Given the description of an element on the screen output the (x, y) to click on. 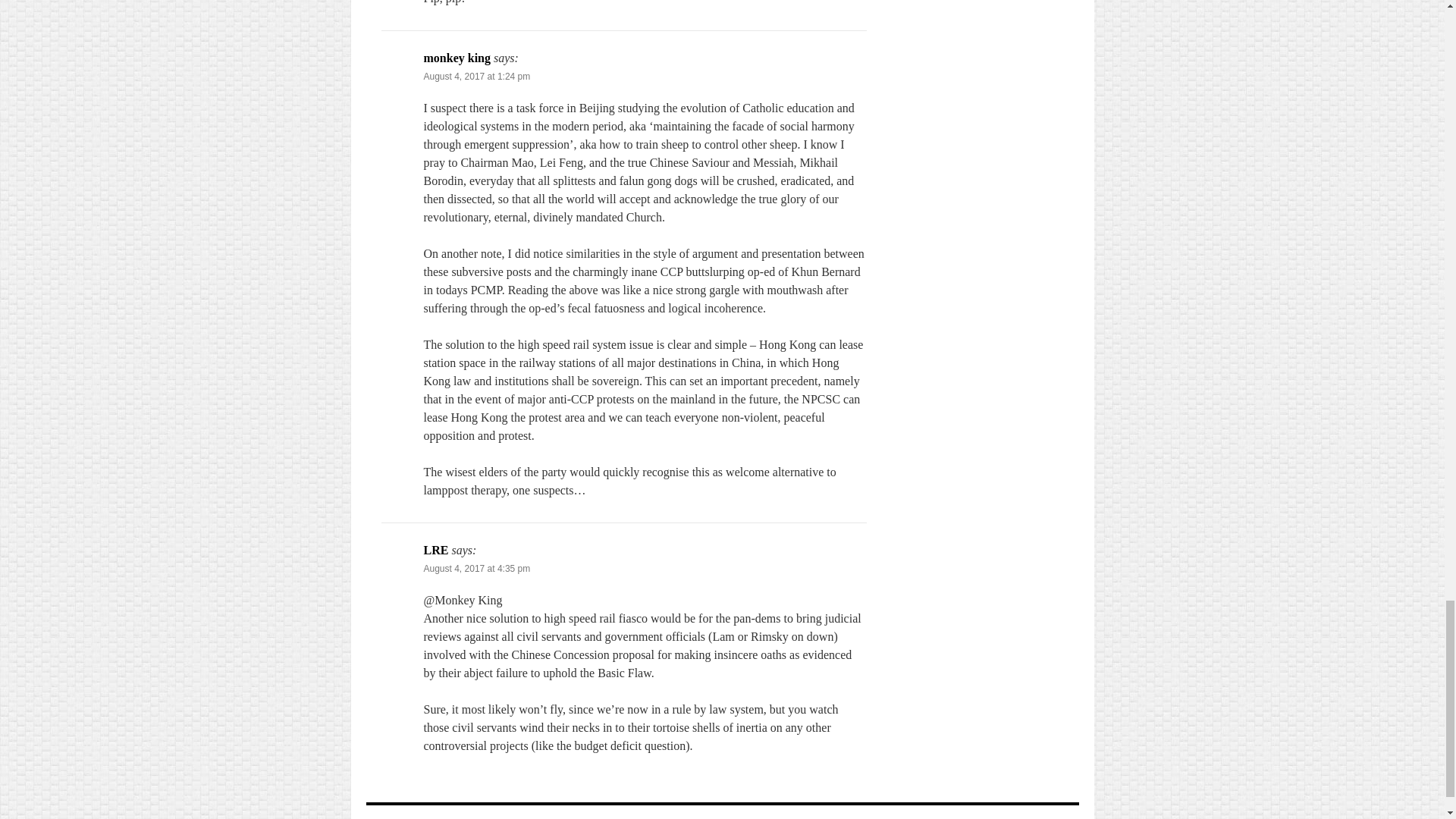
August 4, 2017 at 1:24 pm (476, 76)
August 4, 2017 at 4:35 pm (476, 568)
